Given the description of an element on the screen output the (x, y) to click on. 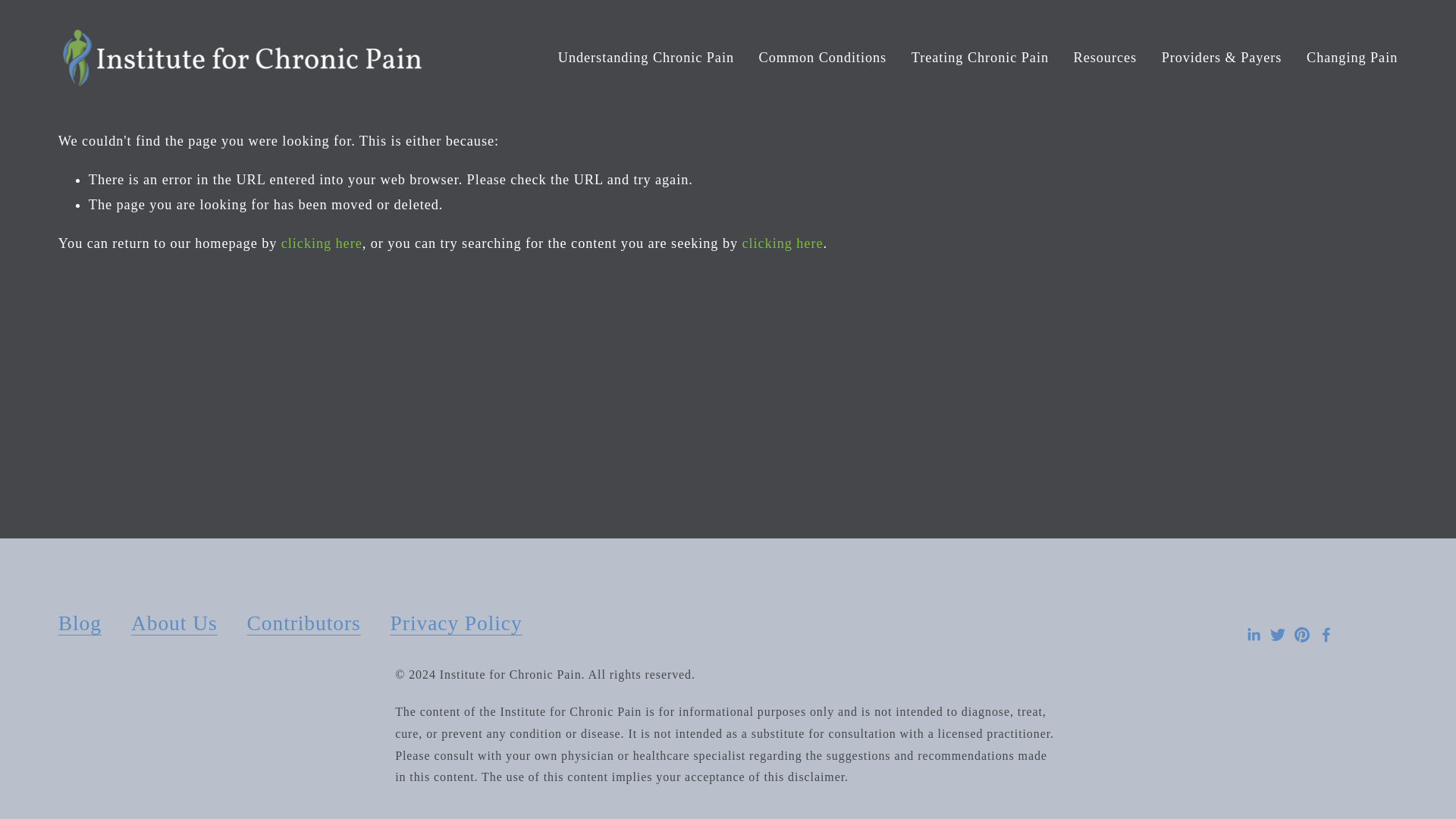
Common Conditions (822, 58)
Understanding Chronic Pain (645, 58)
Treating Chronic Pain (979, 58)
